Given the description of an element on the screen output the (x, y) to click on. 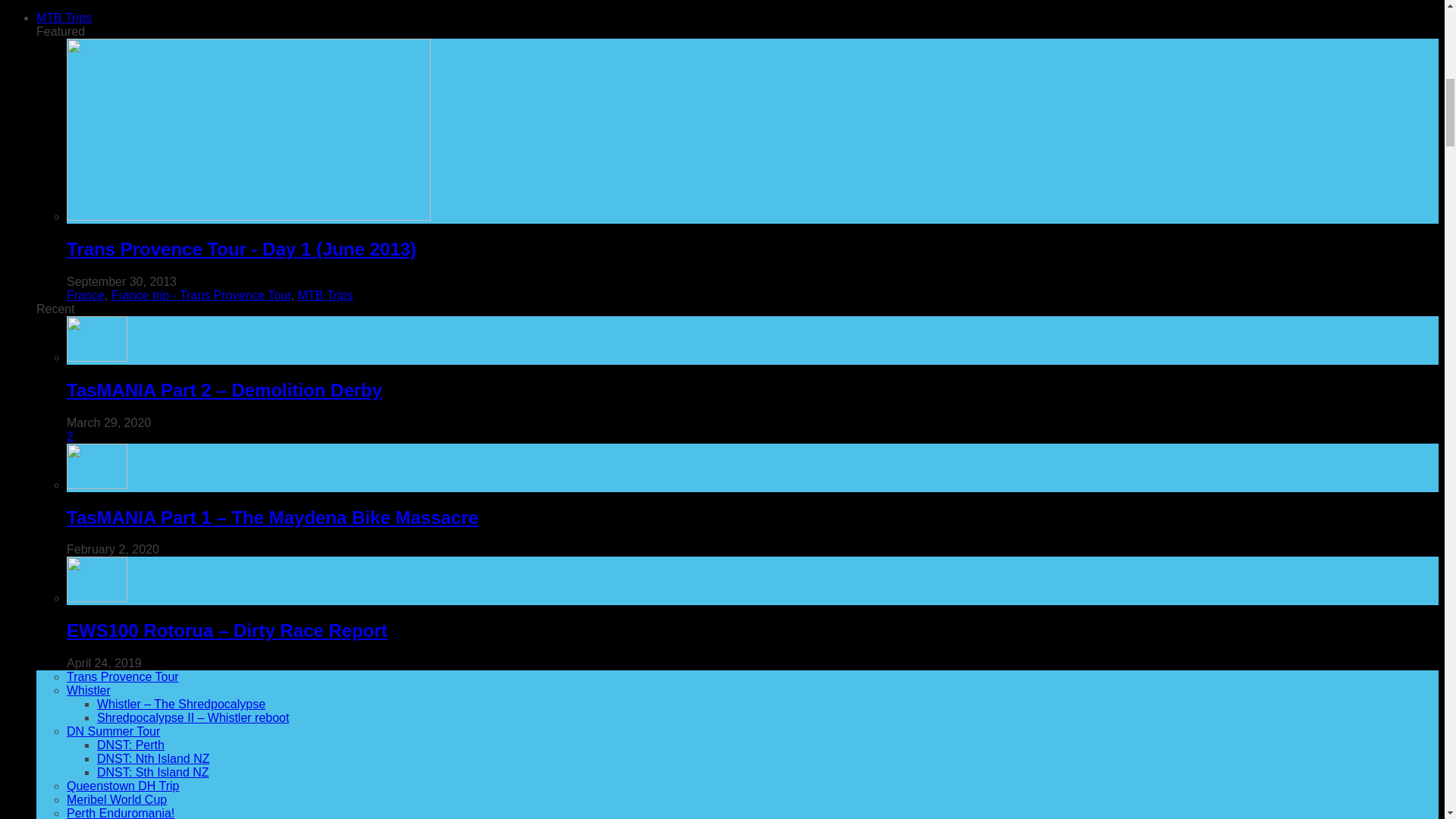
View all posts in MTB Trips (325, 295)
View all posts in France trip - Trans Provence Tour (201, 295)
View all posts in France (85, 295)
